Given the description of an element on the screen output the (x, y) to click on. 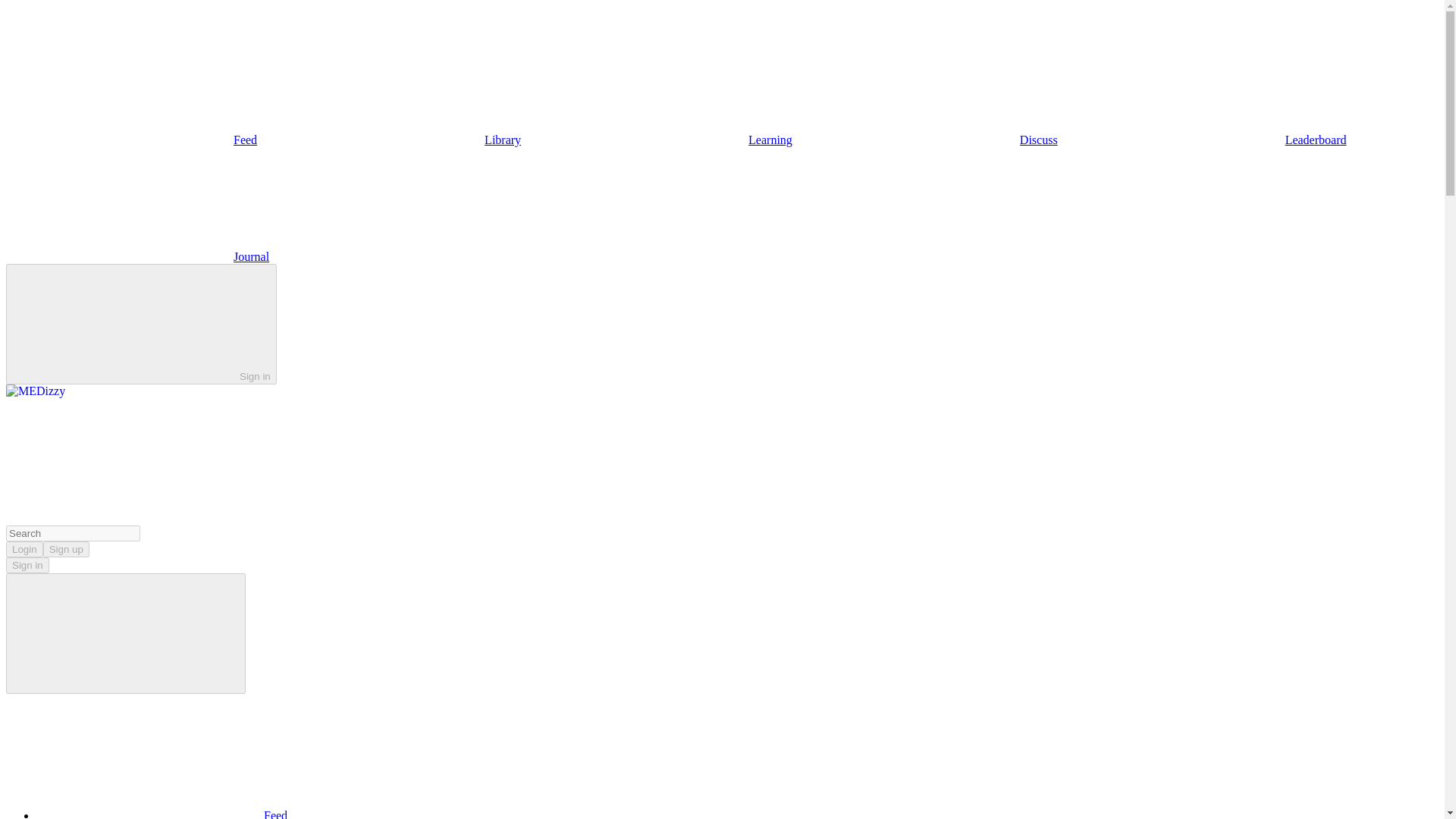
Leaderboard (1202, 139)
Journal (137, 256)
Sign in (27, 565)
Sign up (65, 549)
Learning (656, 139)
Discuss (925, 139)
Login (24, 549)
Toggle menu (125, 633)
Library (389, 139)
Sign in (140, 323)
Feed (131, 139)
Feed (161, 814)
